Given the description of an element on the screen output the (x, y) to click on. 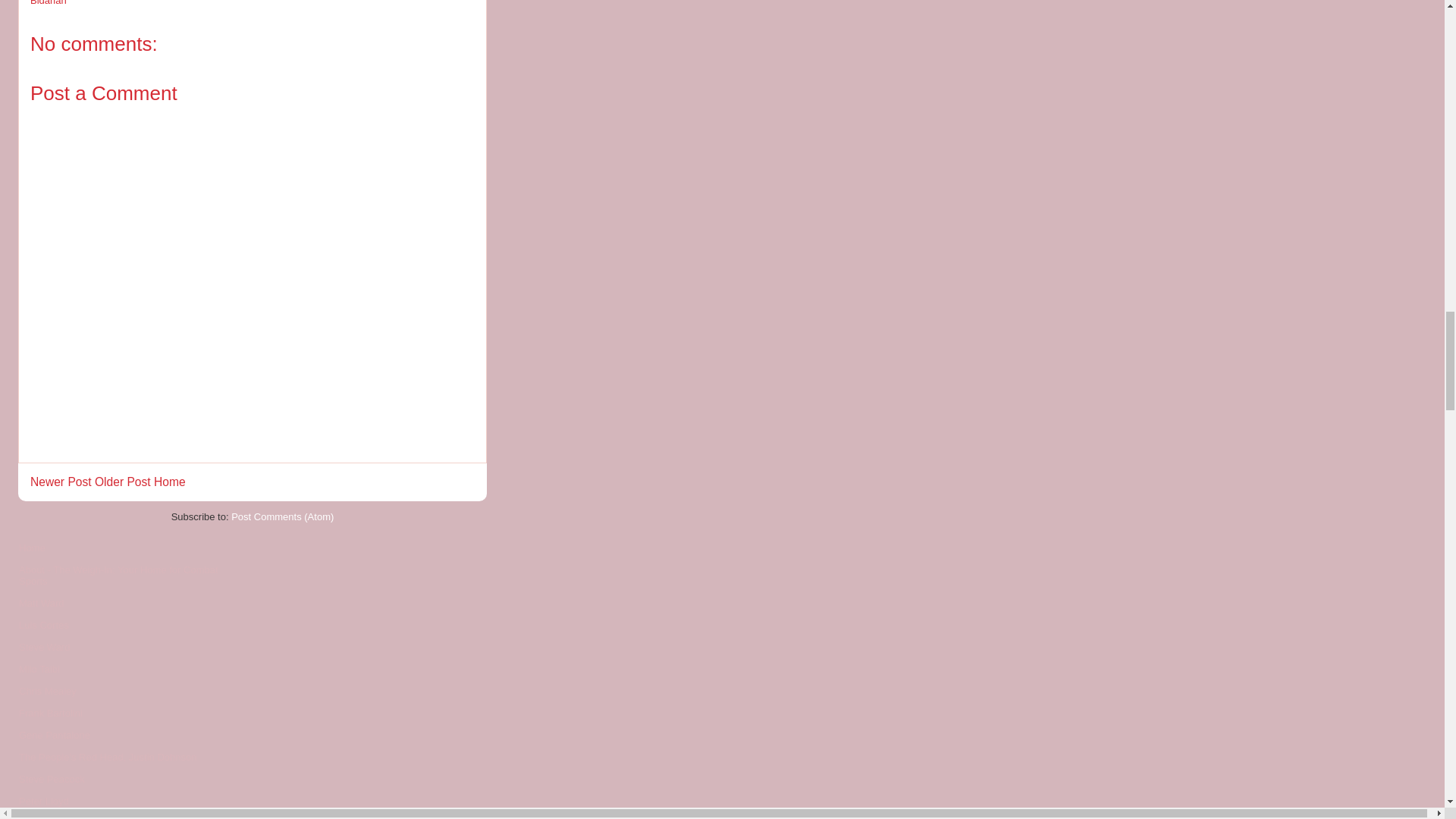
Home (170, 481)
Nakisa Bidarian (234, 2)
About - The Weigh-In: Your Home for Combat Sports (118, 575)
Newer Post (60, 481)
Newer Post (60, 481)
Home (31, 547)
The People's Red Head, Justin Dohnson (107, 756)
Steve Peacock (51, 778)
Older Post (122, 481)
Peter Lloyd (43, 800)
Chris Mealey (47, 690)
Matt Ward (41, 603)
Older Post (122, 481)
Steve Ward (43, 646)
Frank Bartolini (50, 713)
